Given the description of an element on the screen output the (x, y) to click on. 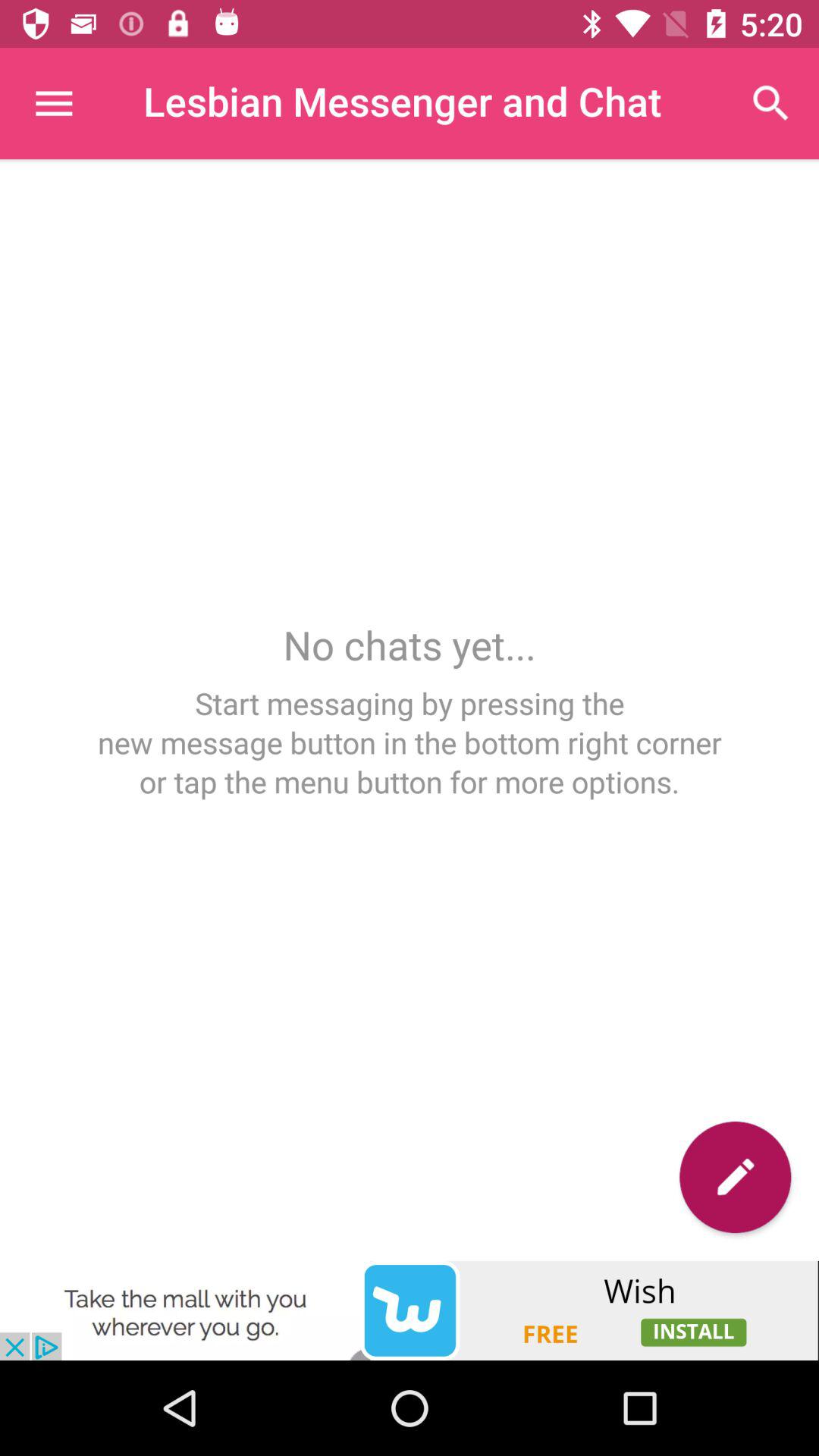
view the menu (53, 103)
